Given the description of an element on the screen output the (x, y) to click on. 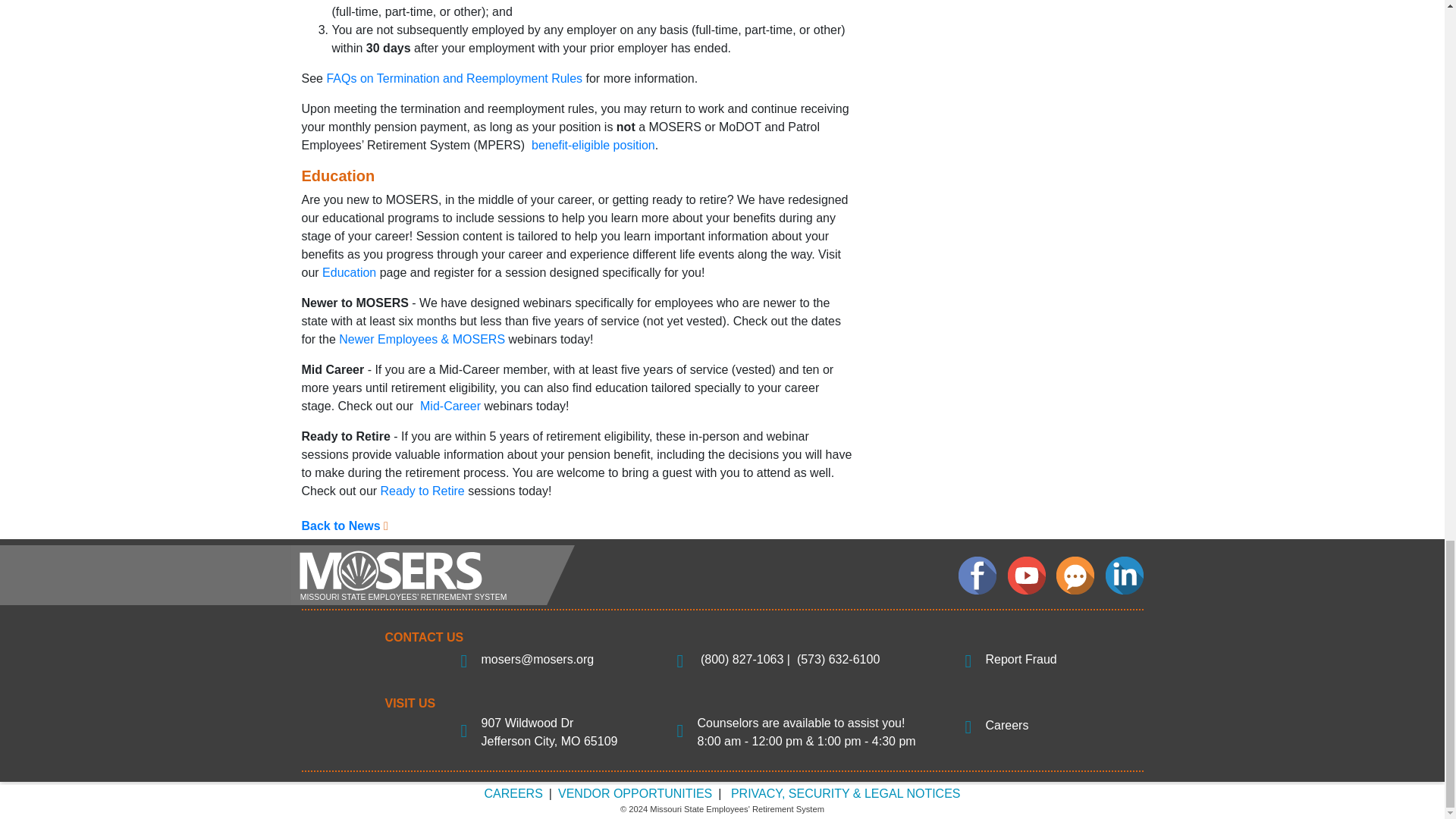
MOSERS Facebook (976, 575)
footer-logo (431, 574)
footer-logo (431, 575)
Rumor Central Blog (1075, 575)
MOSERS Linkedin (1123, 575)
MOSERS You-Tube (1026, 575)
